Given the description of an element on the screen output the (x, y) to click on. 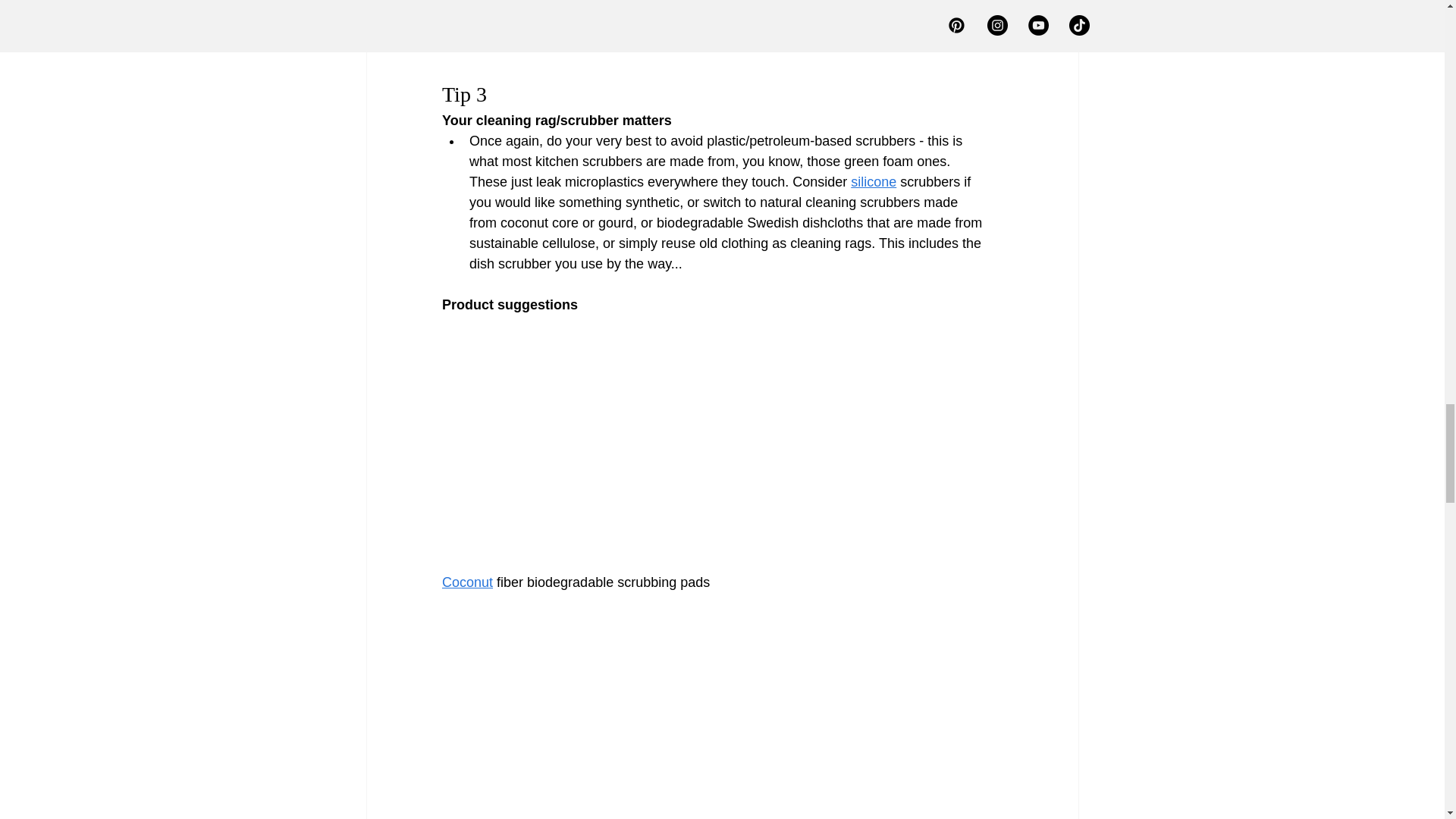
Coconut (466, 581)
silicone (873, 181)
Glass (522, 27)
